Given the description of an element on the screen output the (x, y) to click on. 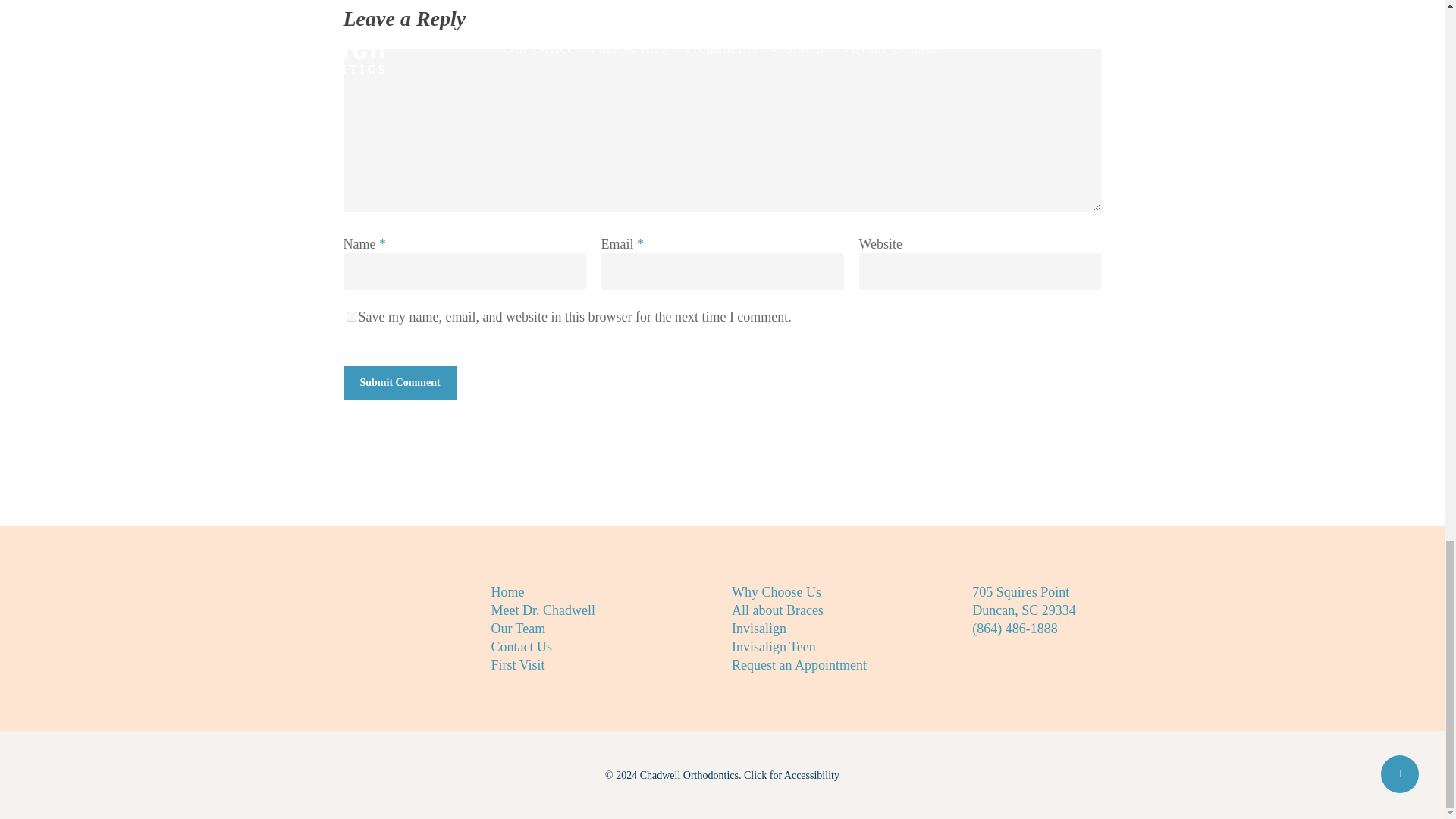
yes (350, 316)
Submit Comment (399, 382)
